Given the description of an element on the screen output the (x, y) to click on. 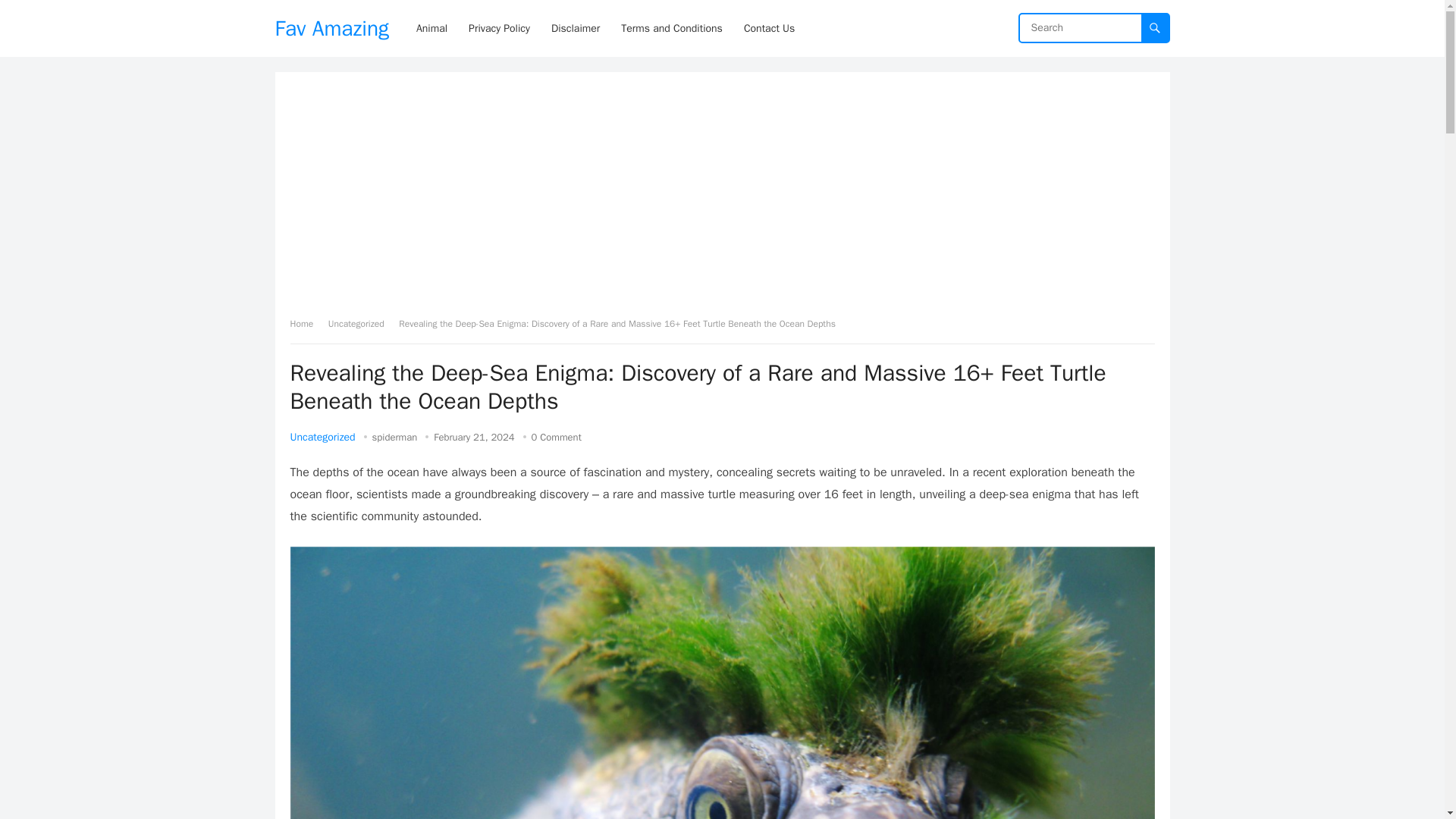
Disclaimer (574, 28)
Privacy Policy (499, 28)
Contact Us (769, 28)
Uncategorized (322, 436)
Terms and Conditions (671, 28)
Uncategorized (361, 323)
Home (306, 323)
Fav Amazing (331, 28)
Posts by spiderman (394, 436)
0 Comment (555, 436)
spiderman (394, 436)
